Given the description of an element on the screen output the (x, y) to click on. 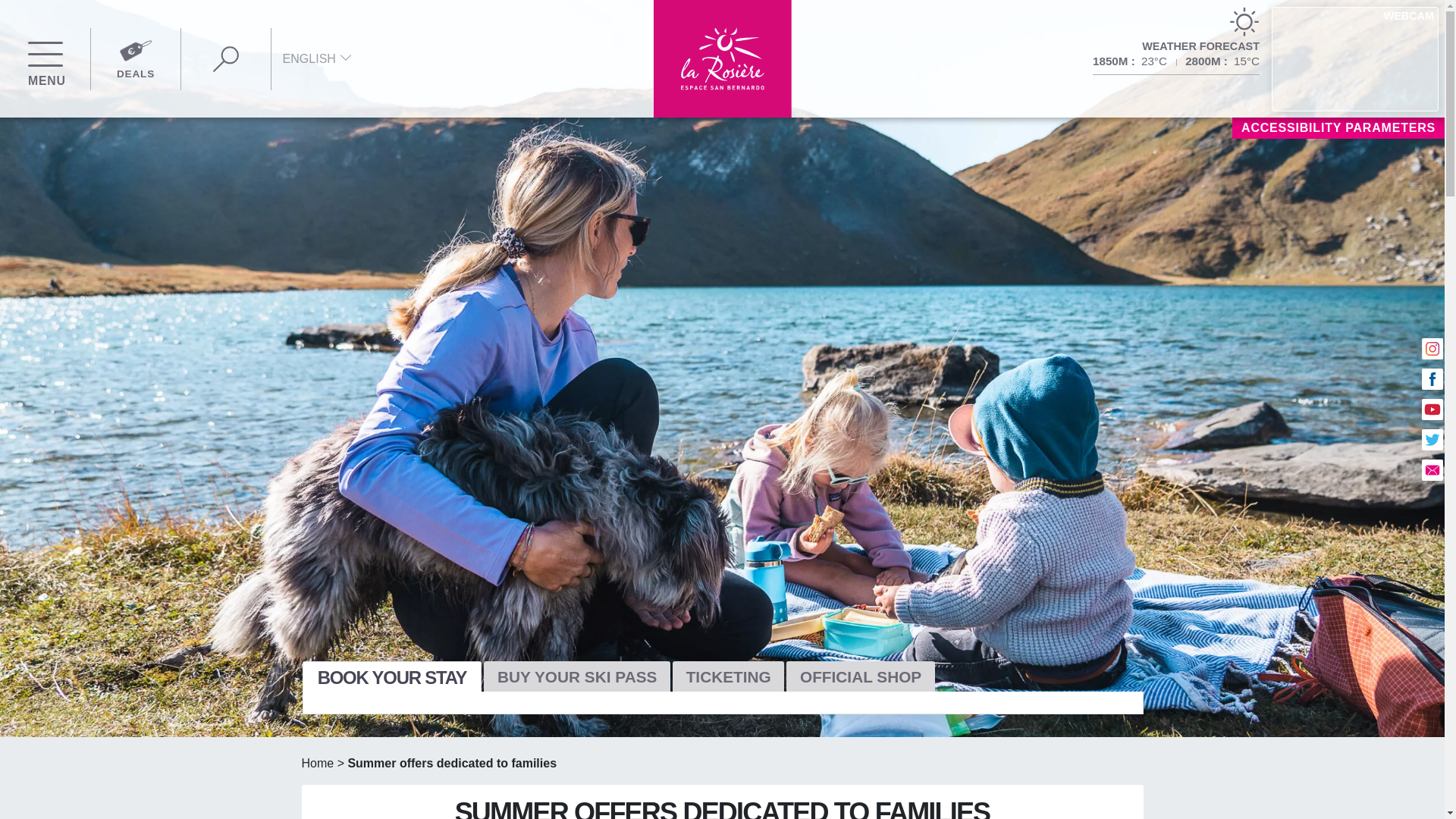
Facebook (1432, 378)
Instagram (1432, 348)
Twitter (1432, 439)
Youtube (1432, 409)
Newsletter (1432, 469)
